Given the description of an element on the screen output the (x, y) to click on. 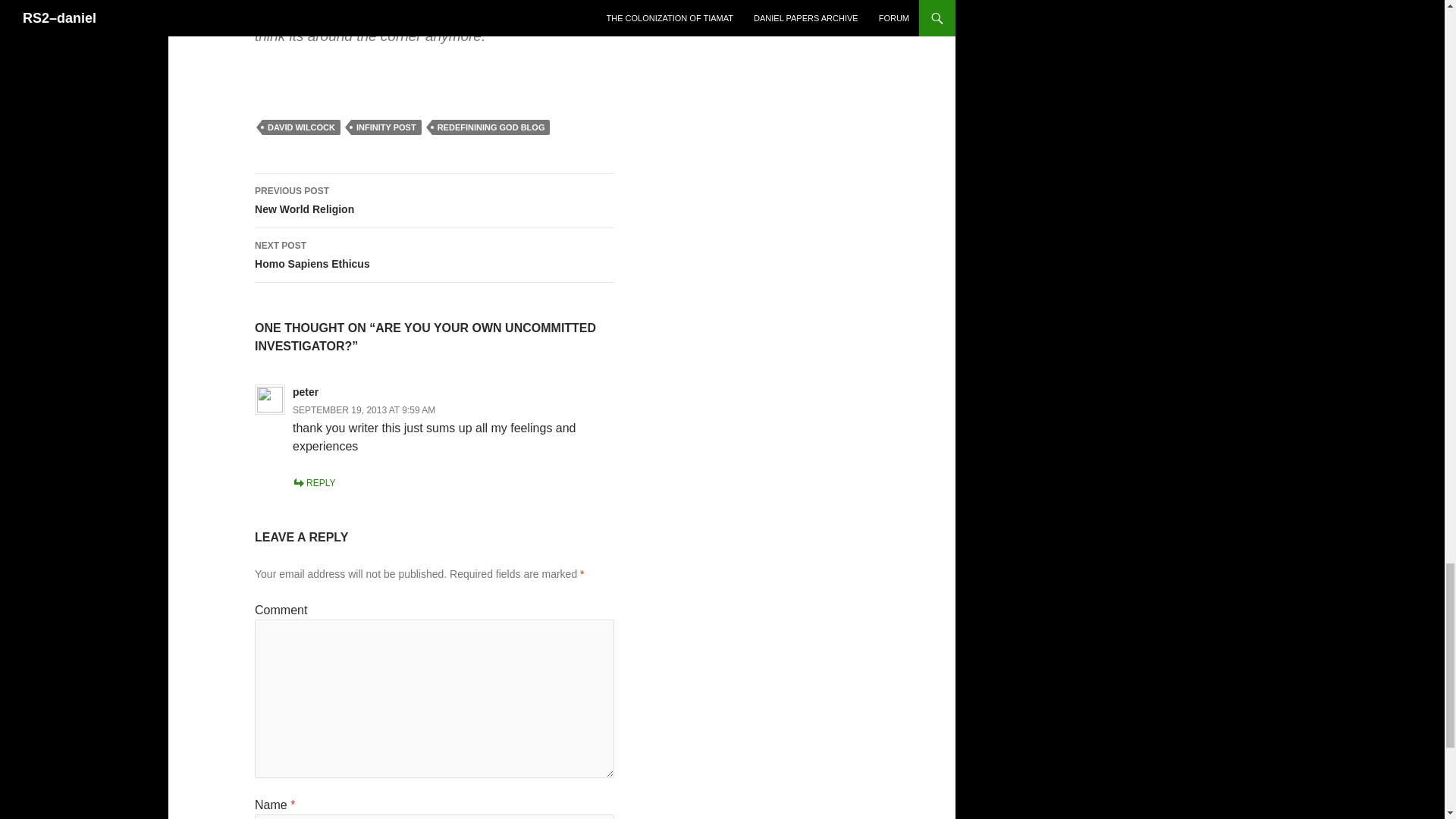
SEPTEMBER 19, 2013 AT 9:59 AM (363, 409)
INFINITY POST (434, 200)
DAVID WILCOCK (434, 255)
REDEFININING GOD BLOG (386, 127)
REPLY (301, 127)
